Given the description of an element on the screen output the (x, y) to click on. 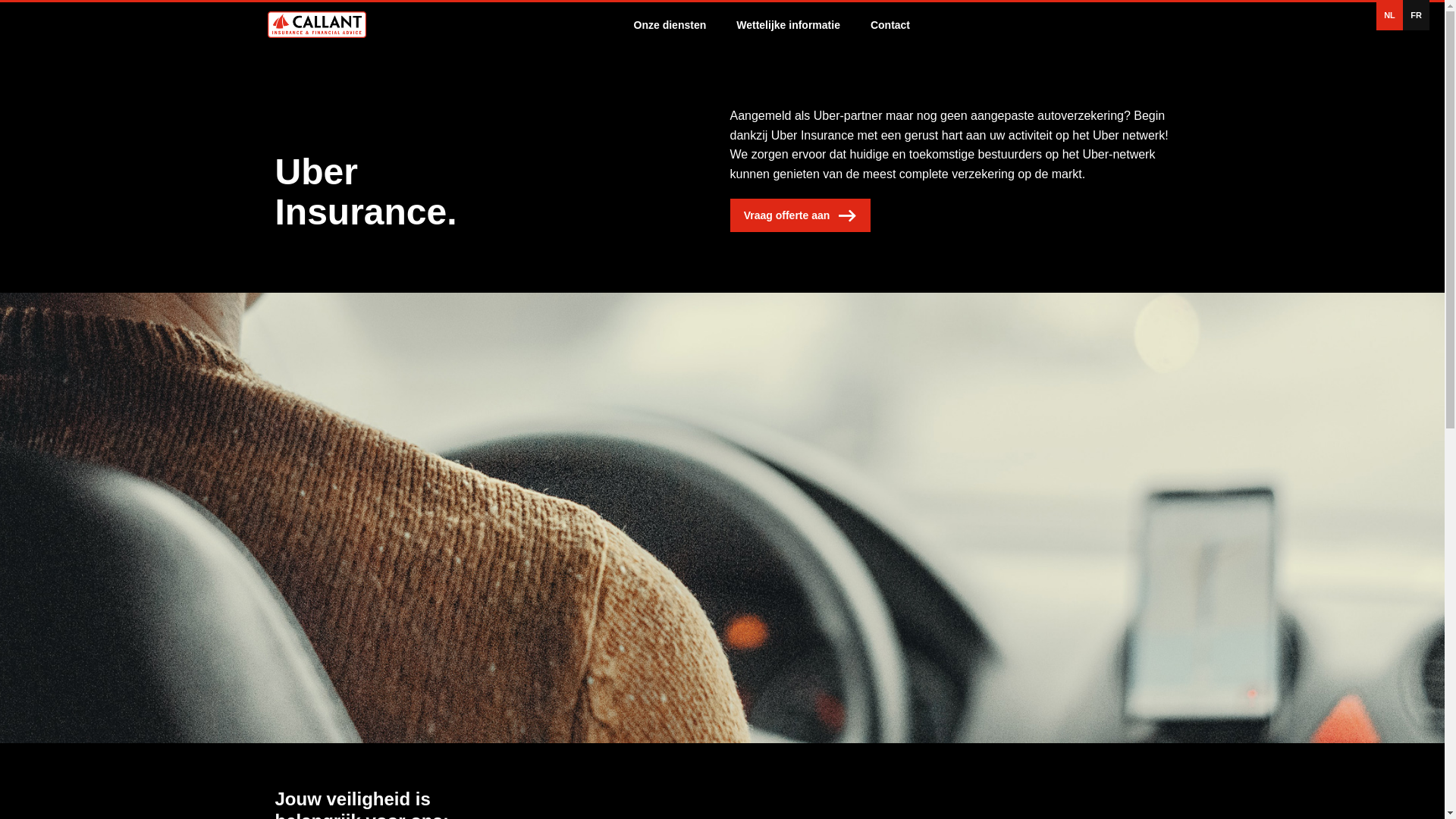
Onze diensten Element type: text (669, 24)
Wettelijke informatie Element type: text (788, 24)
NL Element type: text (1389, 15)
FR Element type: text (1415, 15)
Contact Element type: text (890, 24)
Vraag offerte aan Element type: text (799, 215)
